Given the description of an element on the screen output the (x, y) to click on. 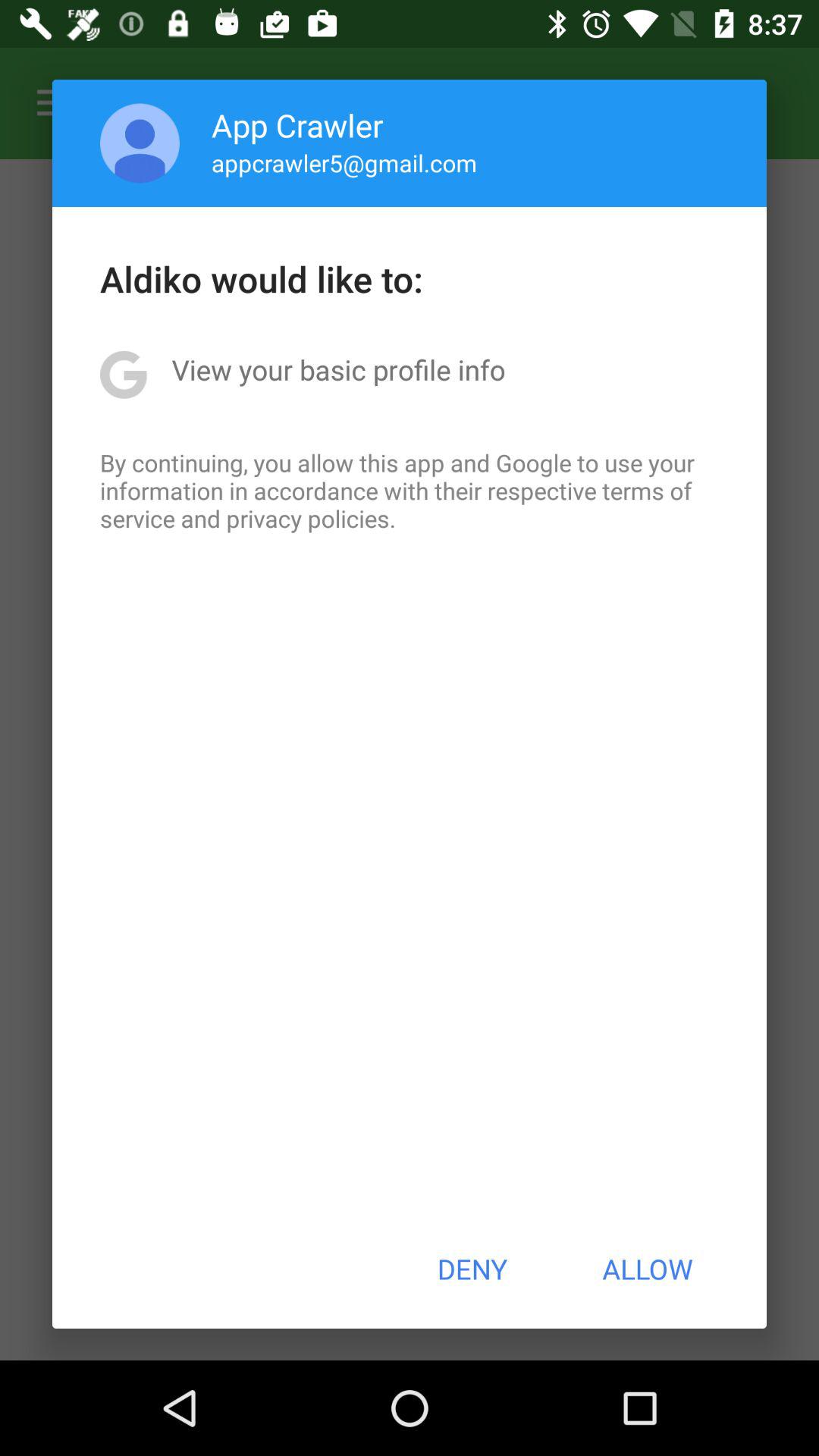
jump to app crawler item (297, 124)
